Given the description of an element on the screen output the (x, y) to click on. 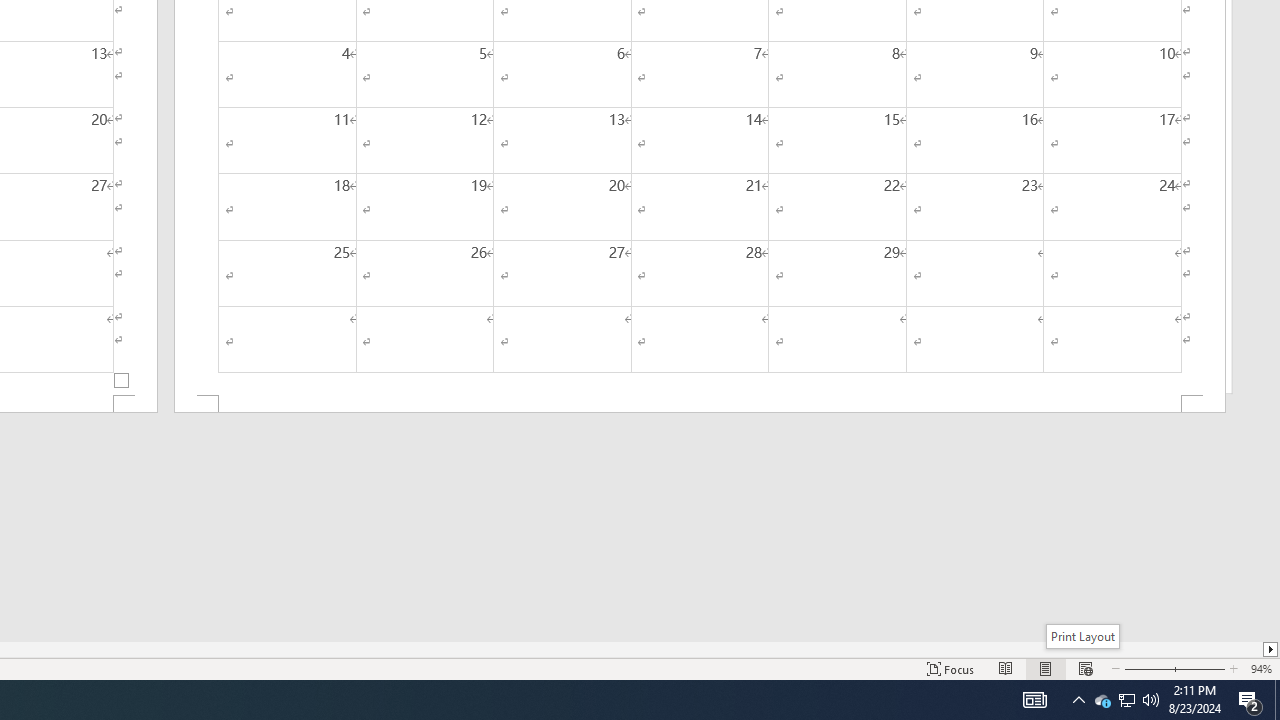
Column right (1271, 649)
Footer -Section 2- (700, 404)
